Given the description of an element on the screen output the (x, y) to click on. 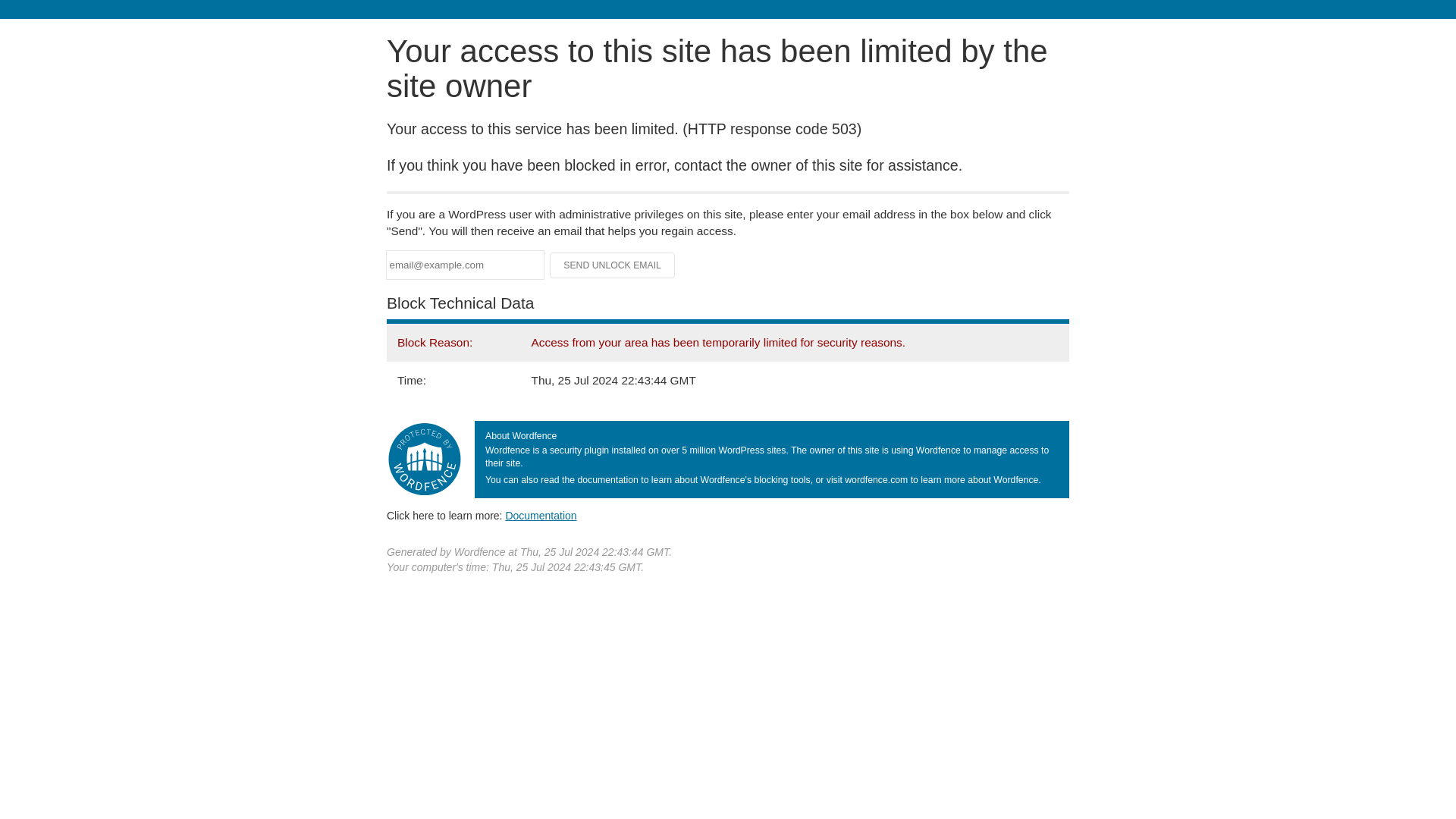
Send Unlock Email (612, 265)
Send Unlock Email (612, 265)
Documentation (540, 515)
